Given the description of an element on the screen output the (x, y) to click on. 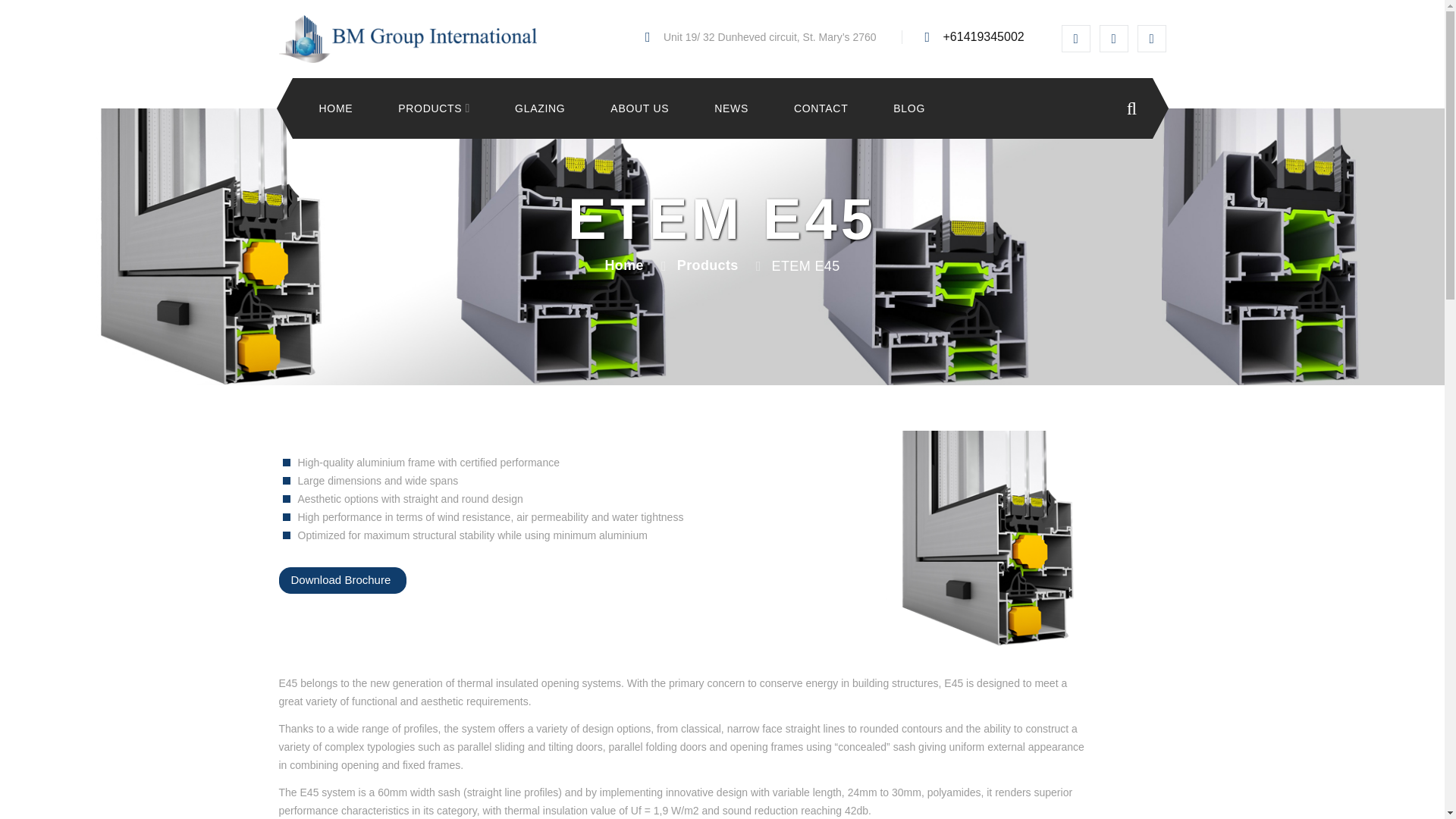
Instagram (1113, 38)
Home (408, 39)
Home (335, 108)
PRODUCTS (429, 108)
YouTube (1151, 38)
Products (429, 108)
Facebook (1075, 38)
Home (623, 264)
Download Brochure (343, 580)
NEWS (731, 108)
GLAZING (539, 108)
BLOG (908, 108)
CONTACT (820, 108)
HOME (335, 108)
ABOUT US (639, 108)
